Given the description of an element on the screen output the (x, y) to click on. 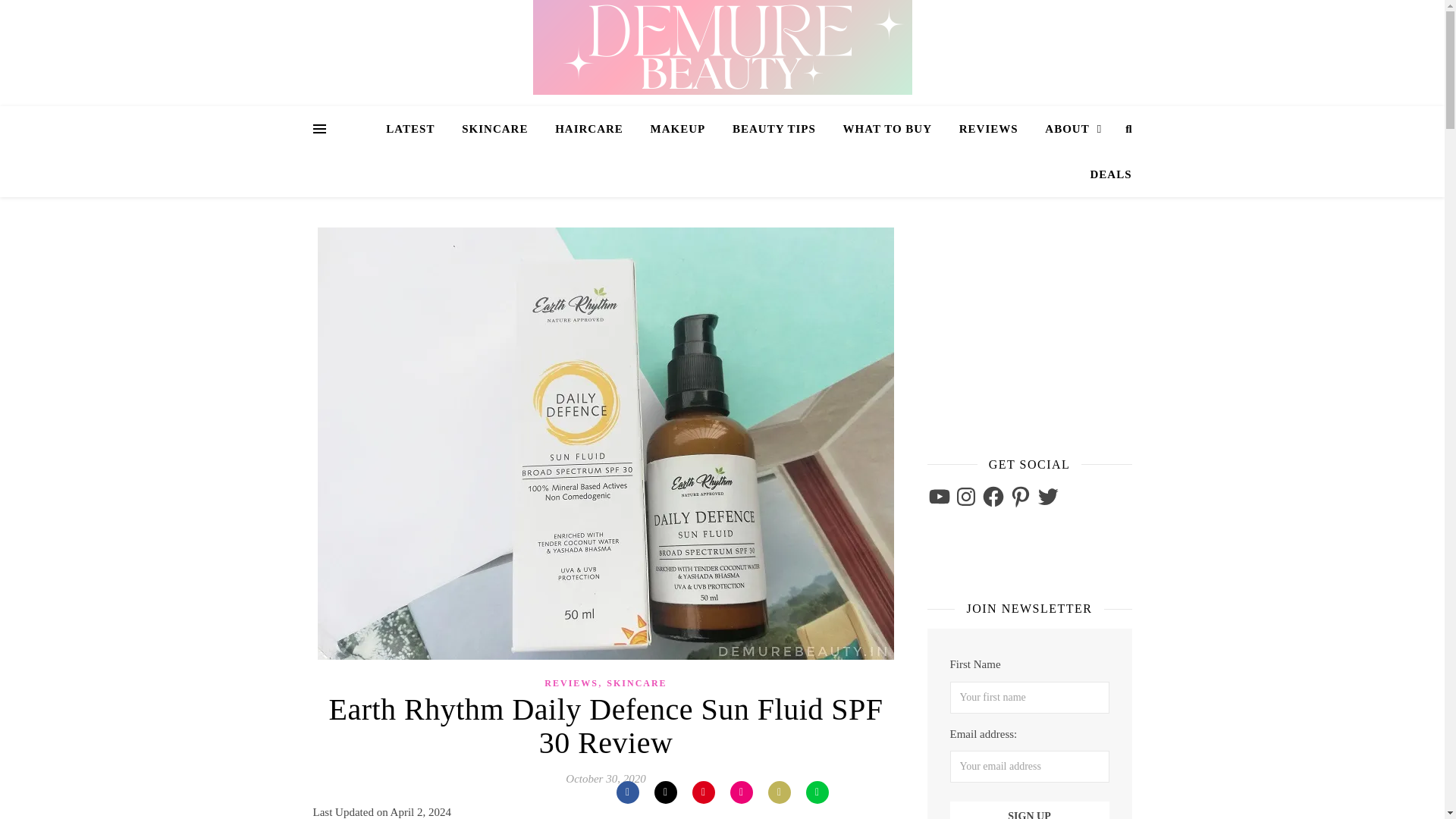
HAIRCARE (588, 128)
SKINCARE (494, 128)
MAKEUP (678, 128)
DEALS (1104, 174)
LATEST (415, 128)
REVIEWS (988, 128)
Demure Beauty (722, 47)
Advertisement (1021, 321)
ABOUT (1072, 128)
BEAUTY TIPS (774, 128)
WHAT TO BUY (887, 128)
Sign up (1028, 810)
